Given the description of an element on the screen output the (x, y) to click on. 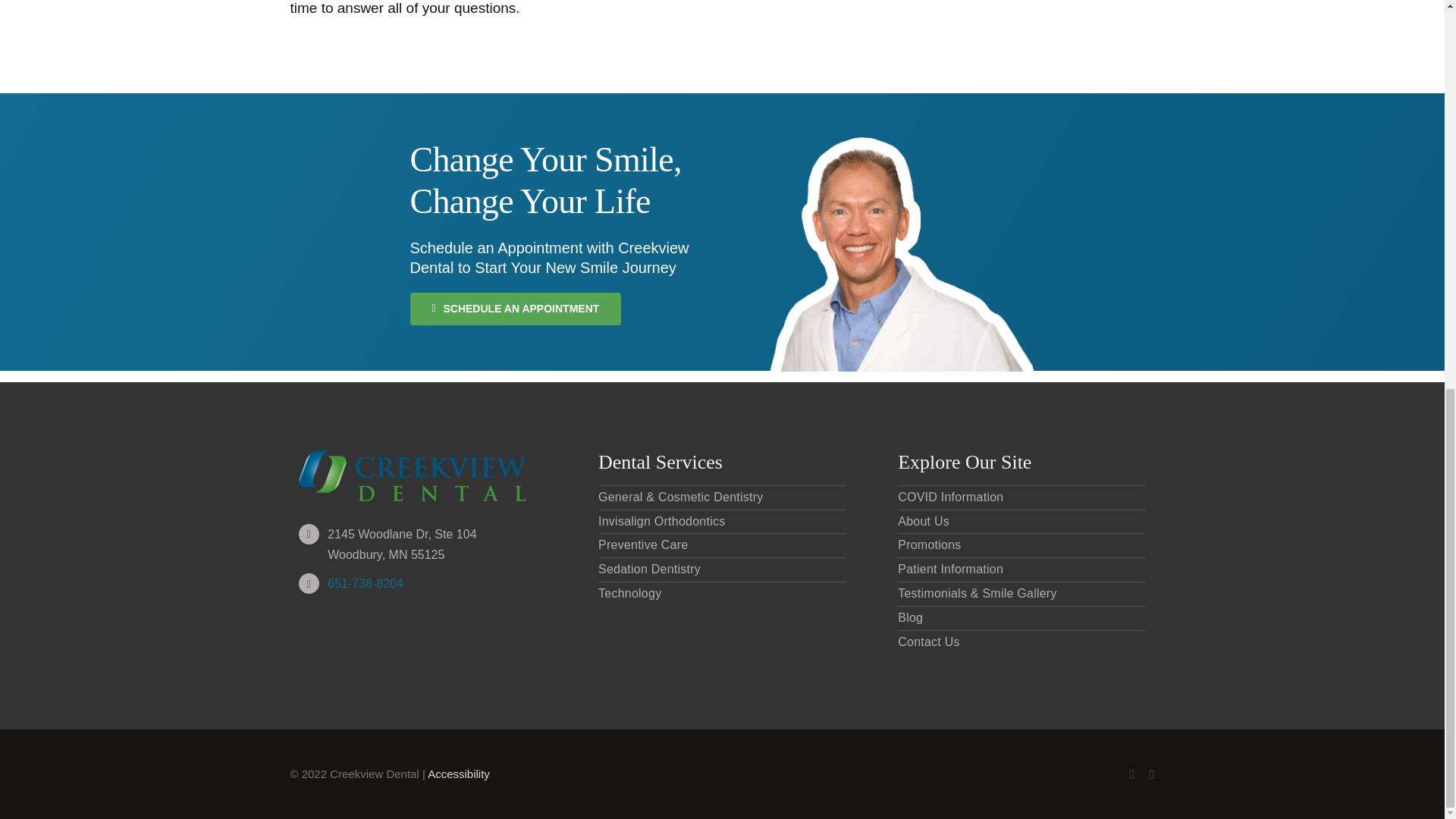
SCHEDULE AN APPOINTMENT (515, 308)
photo-dr-haag-transparent-365-min (902, 254)
